Given the description of an element on the screen output the (x, y) to click on. 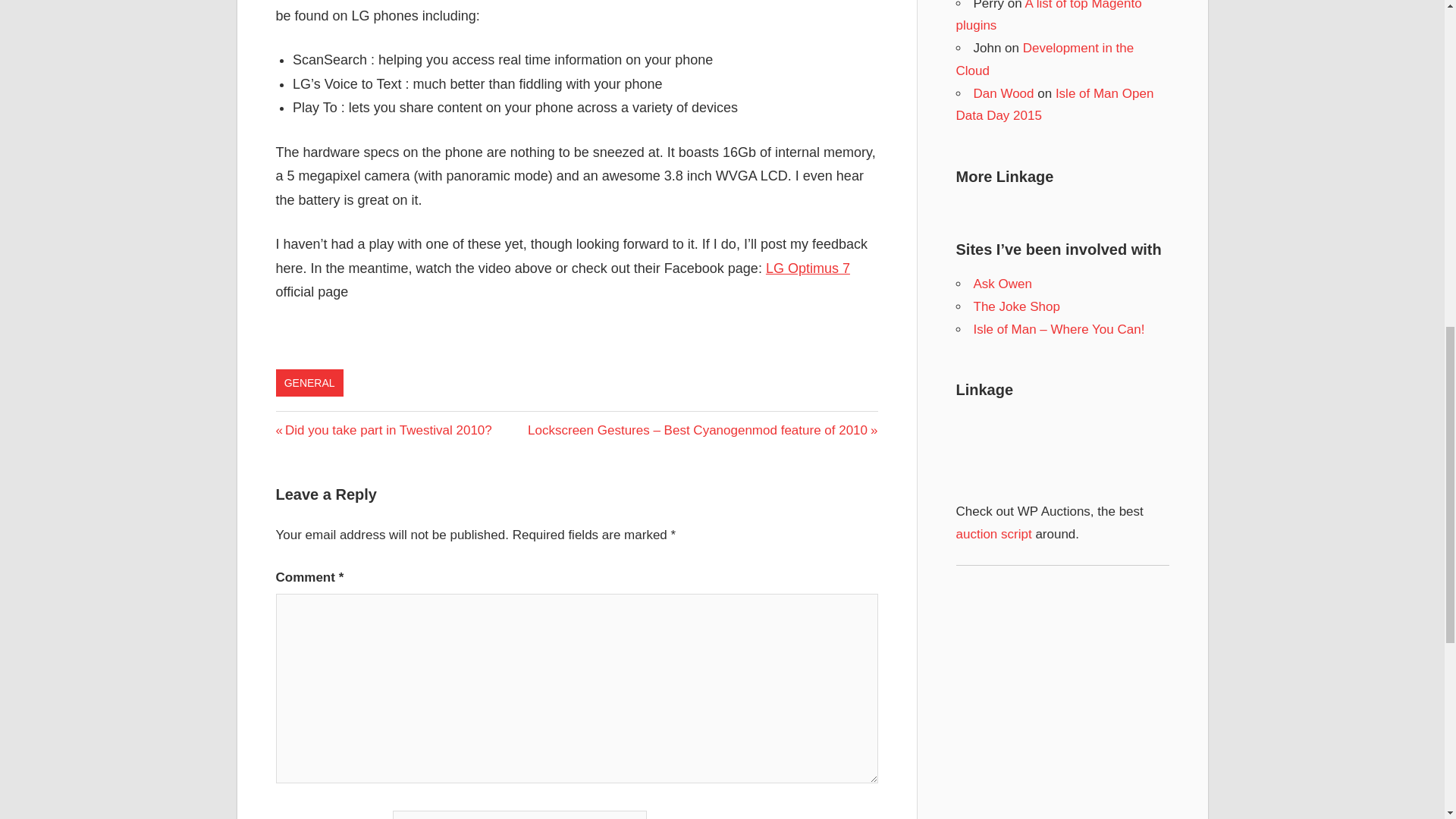
The Joke Shop (1016, 306)
Development in the Cloud (1044, 58)
GENERAL (309, 382)
Ask Owen (1003, 283)
A list of top Magento plugins (1048, 16)
LG Optimus 7 (807, 268)
Dan Wood (1003, 93)
auction script (384, 430)
Isle of Man Open Data Day 2015 (992, 534)
